Given the description of an element on the screen output the (x, y) to click on. 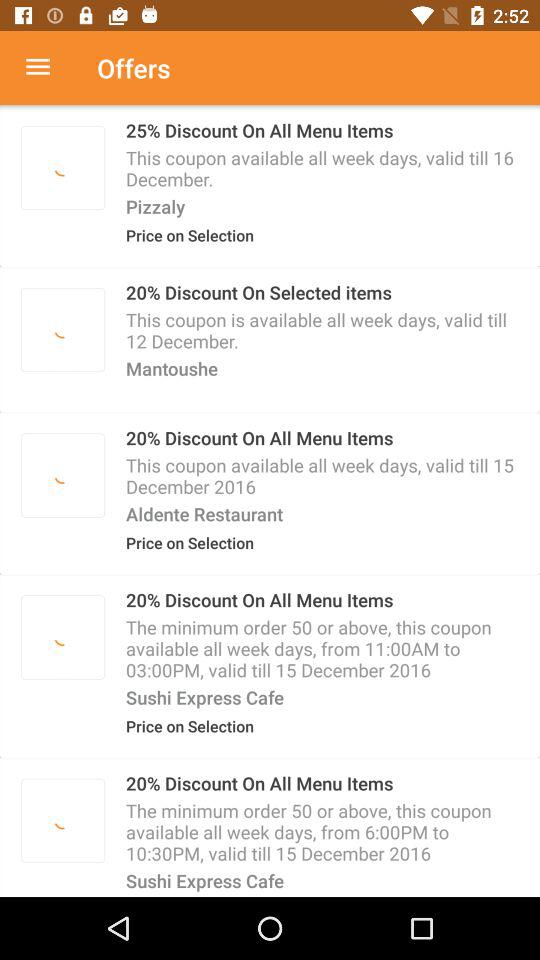
show menu (48, 67)
